Given the description of an element on the screen output the (x, y) to click on. 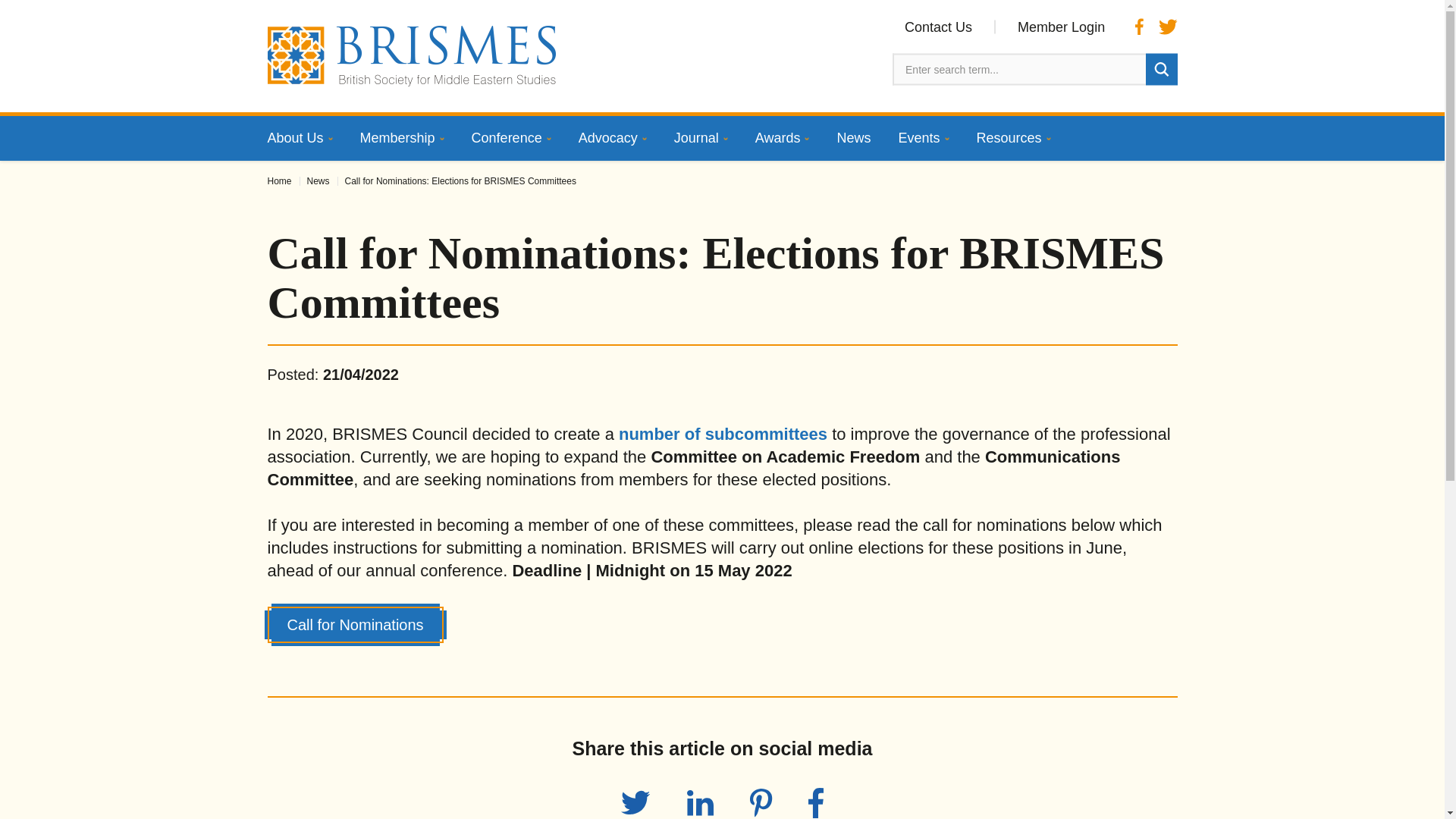
Search (1160, 69)
Twitter (1167, 26)
Twitter (635, 802)
LinkedIn (700, 802)
